Given the description of an element on the screen output the (x, y) to click on. 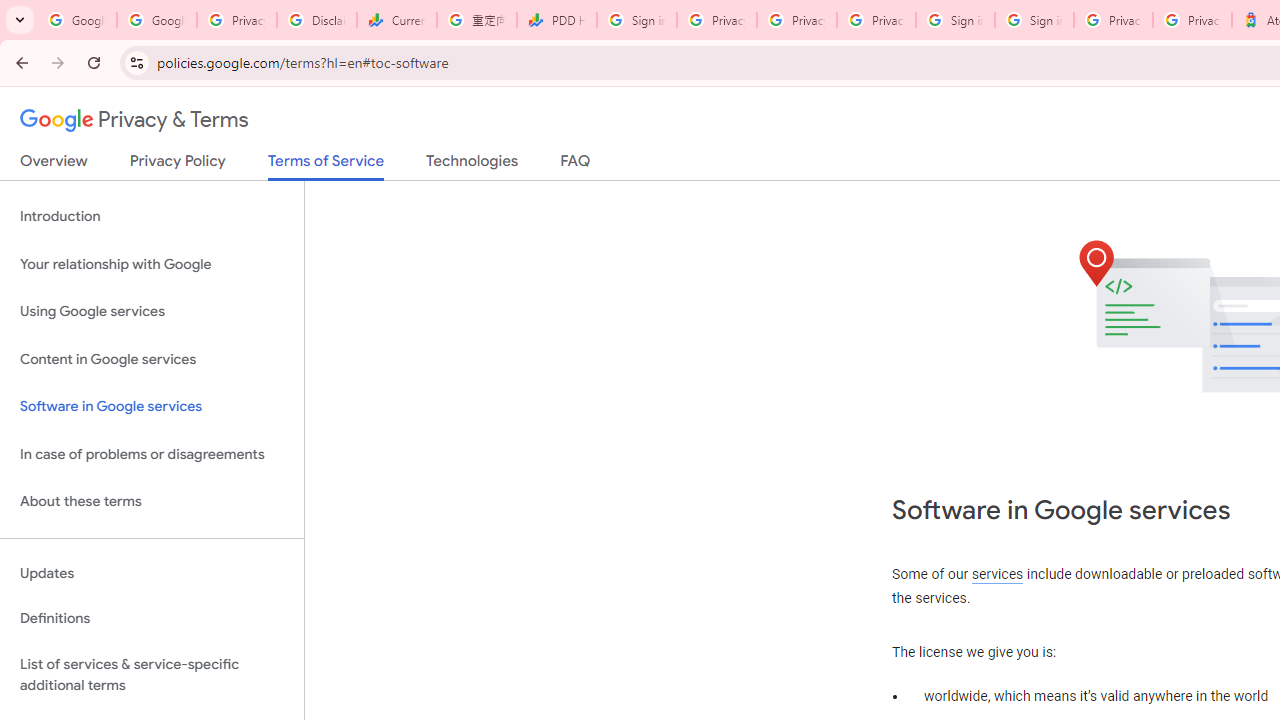
Your relationship with Google (152, 263)
Currencies - Google Finance (396, 20)
Privacy Checkup (796, 20)
Introduction (152, 216)
In case of problems or disagreements (152, 453)
Sign in - Google Accounts (955, 20)
